Given the description of an element on the screen output the (x, y) to click on. 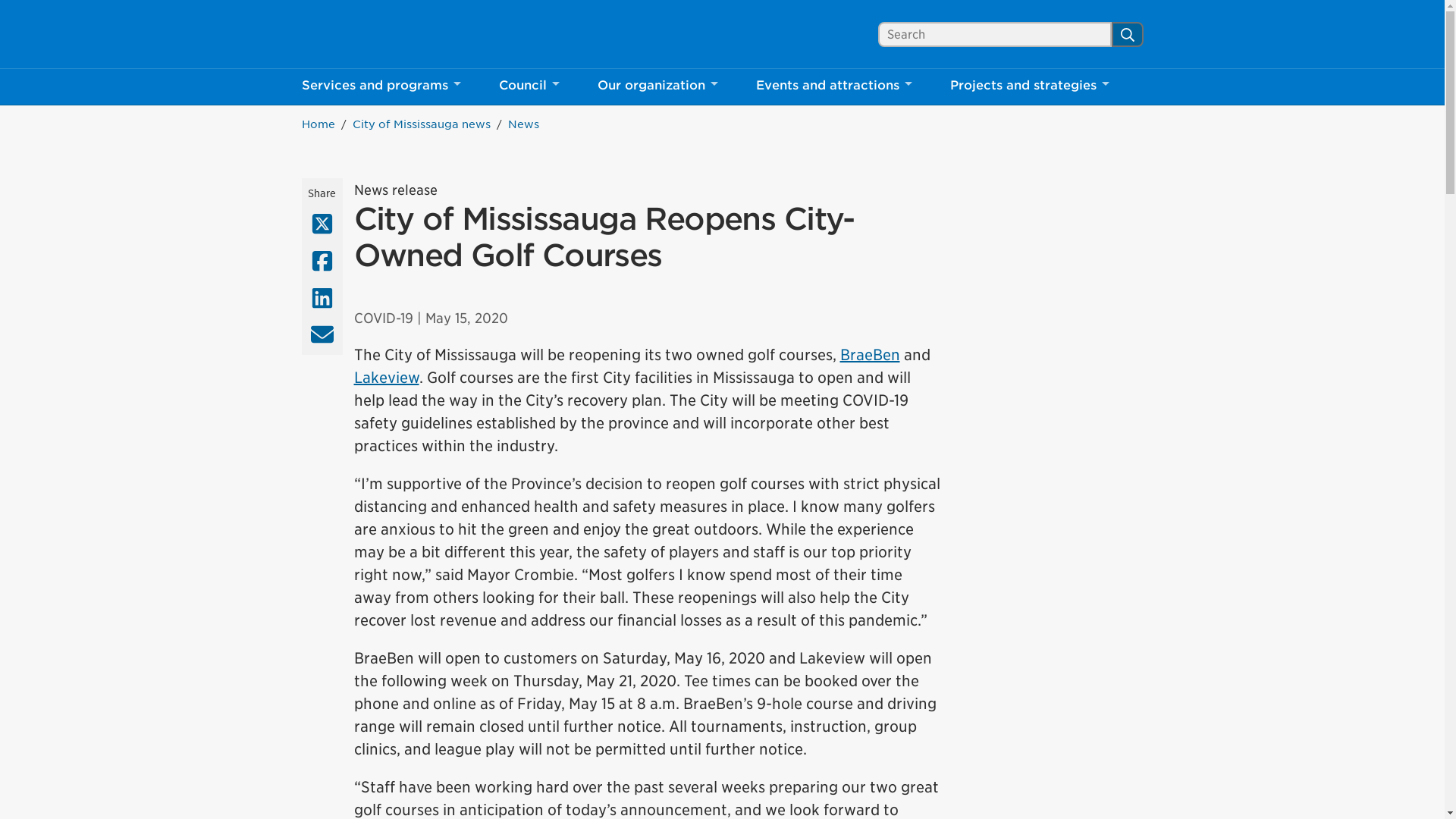
City of Mississauga home (369, 33)
Services and programs (369, 33)
Events and attractions (380, 86)
City of Mississauga Homepage (833, 86)
Council (369, 33)
Our organization (528, 86)
Search (657, 86)
